Given the description of an element on the screen output the (x, y) to click on. 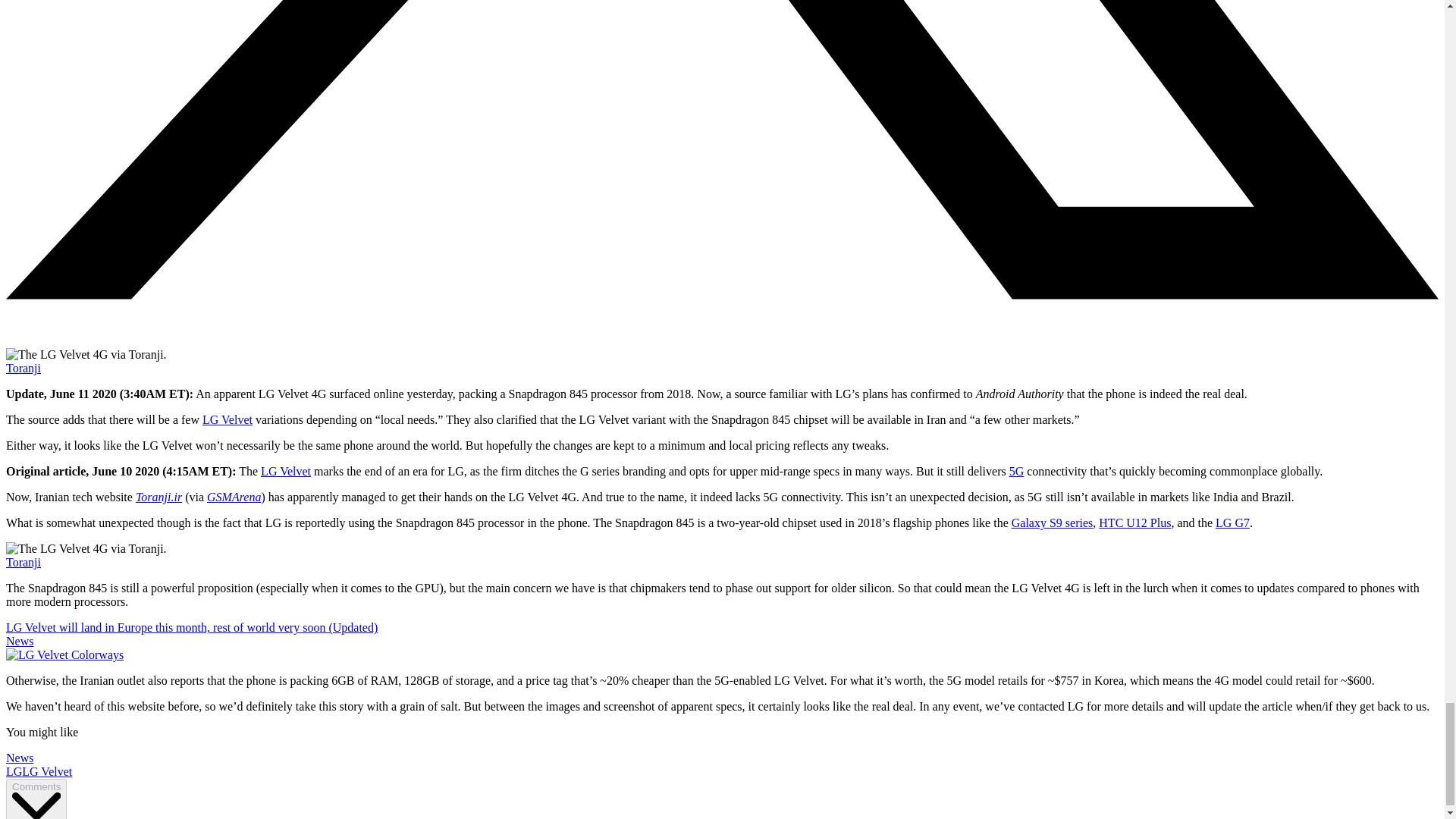
Toranji (22, 367)
LG Velvet Colorways (64, 654)
LG Velvet (285, 471)
LG G7 (1232, 522)
5G (1017, 471)
Toranji.ir (158, 496)
LG (13, 771)
HTC U12 Plus (1134, 522)
GSMArena (233, 496)
LG Velvet (46, 771)
lg velvet 4g toranji back (86, 549)
Toranji (22, 562)
lg velvet 4g toranji 1 (86, 354)
LG Velvet (226, 419)
News (19, 757)
